Given the description of an element on the screen output the (x, y) to click on. 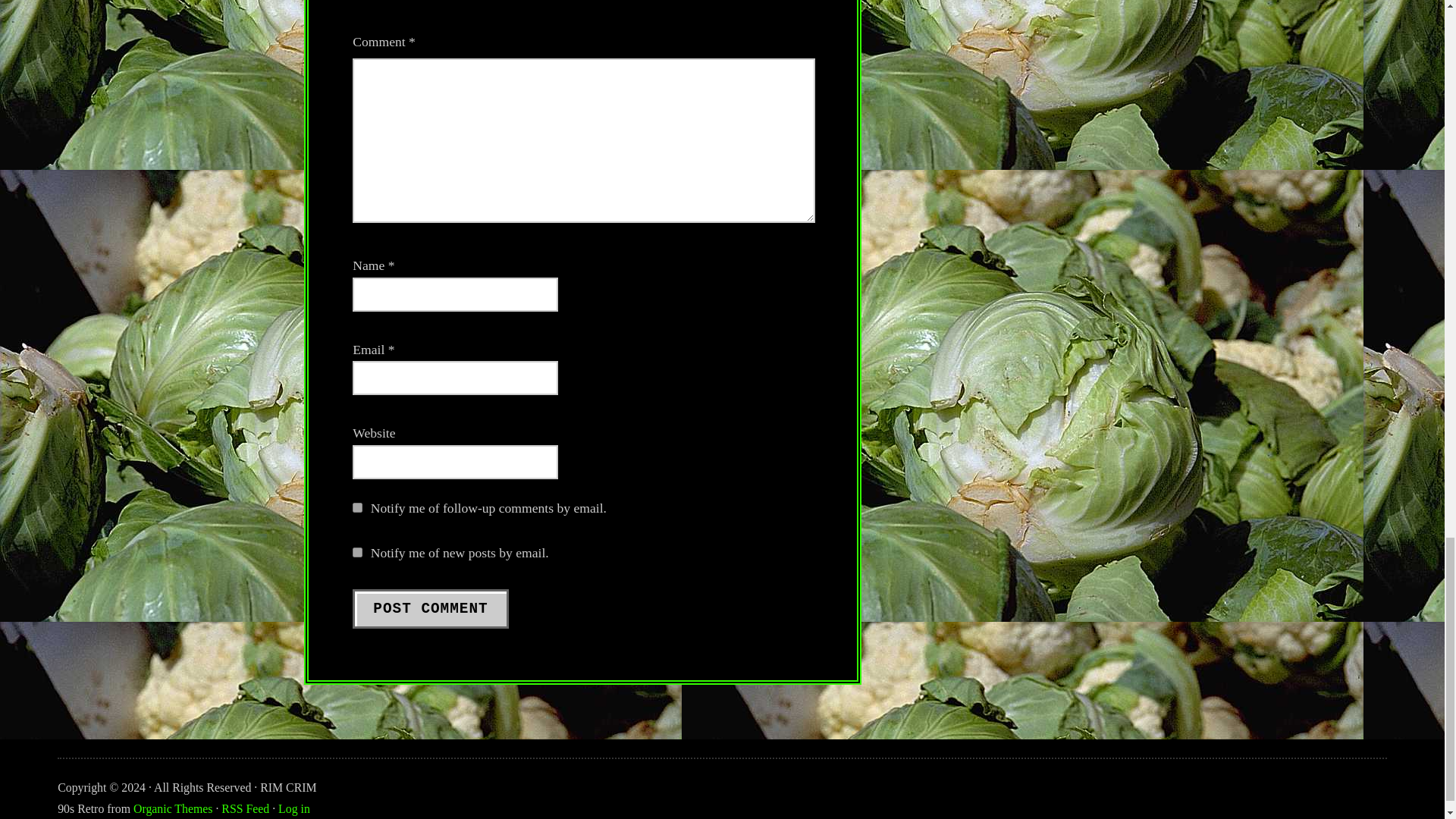
Organic Themes (172, 808)
RSS Feed (245, 808)
Post Comment (430, 608)
subscribe (357, 507)
Log in (294, 808)
Post Comment (430, 608)
subscribe (357, 552)
